Given the description of an element on the screen output the (x, y) to click on. 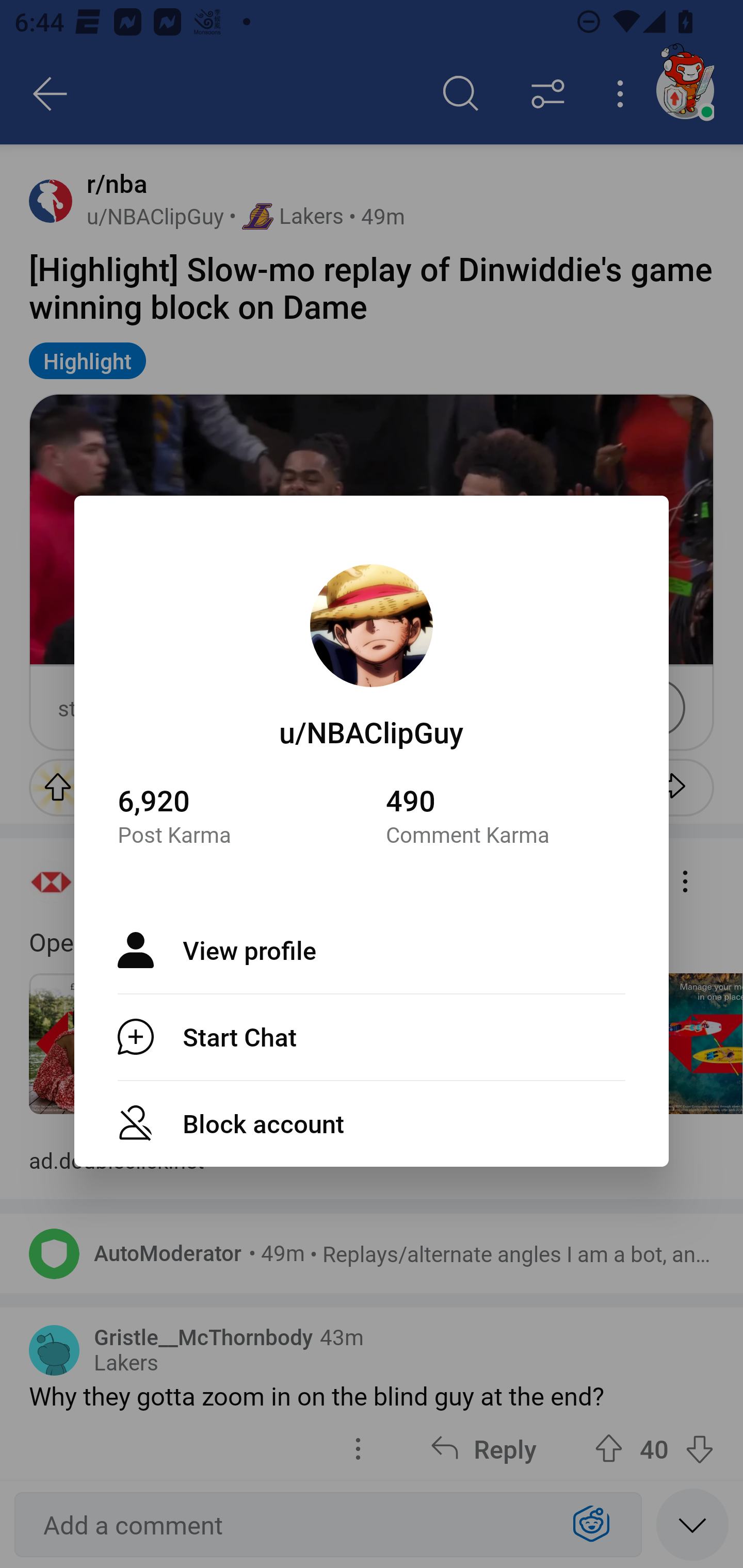
u/NBAClipGuy (371, 731)
View profile (371, 950)
Start Chat (371, 1037)
Block account (371, 1123)
